Given the description of an element on the screen output the (x, y) to click on. 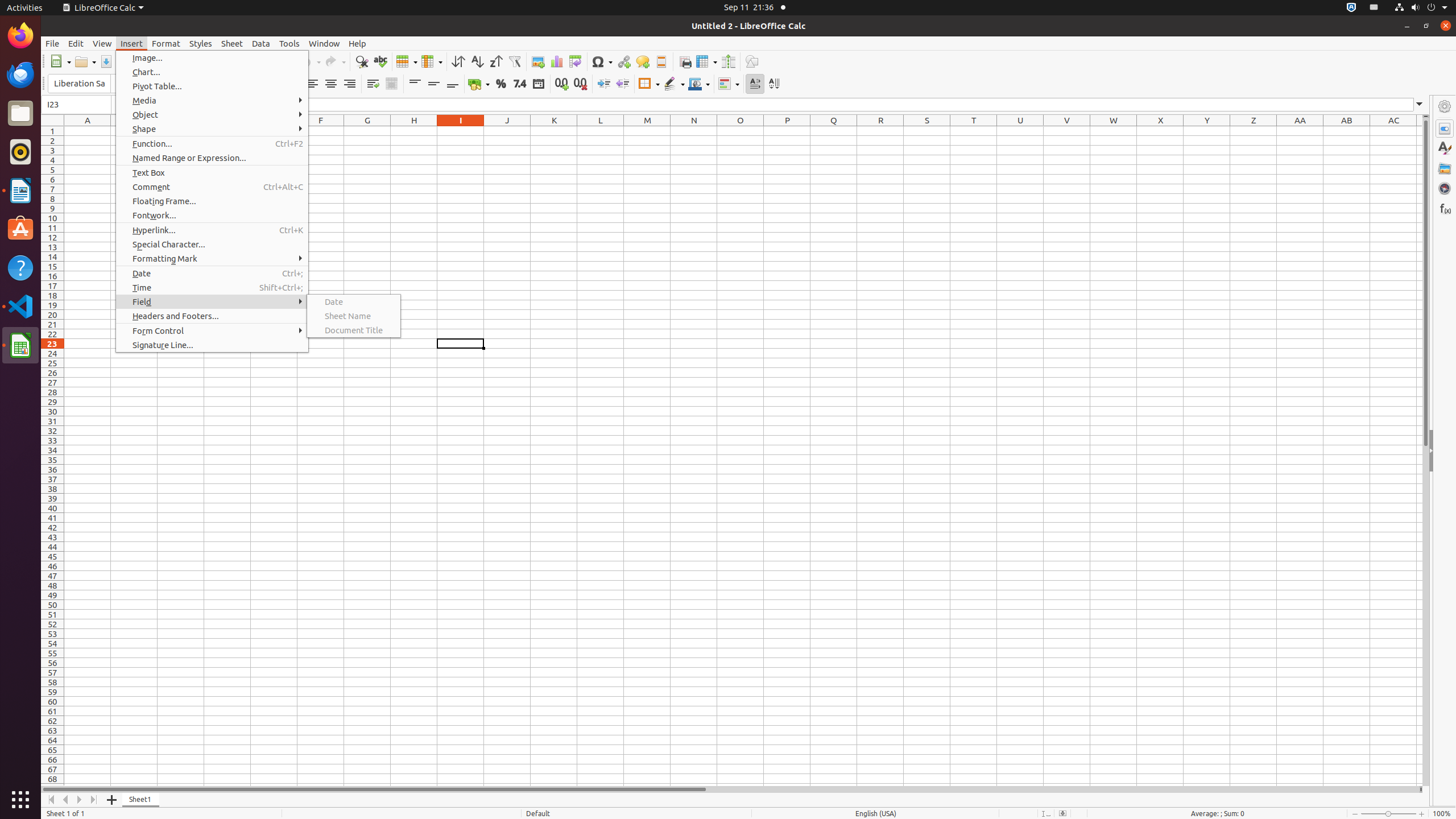
Borders (Shift to overwrite) Element type: push-button (648, 83)
Formatting Mark Element type: menu (212, 258)
Number Element type: push-button (519, 83)
Edit Element type: menu (75, 43)
